Given the description of an element on the screen output the (x, y) to click on. 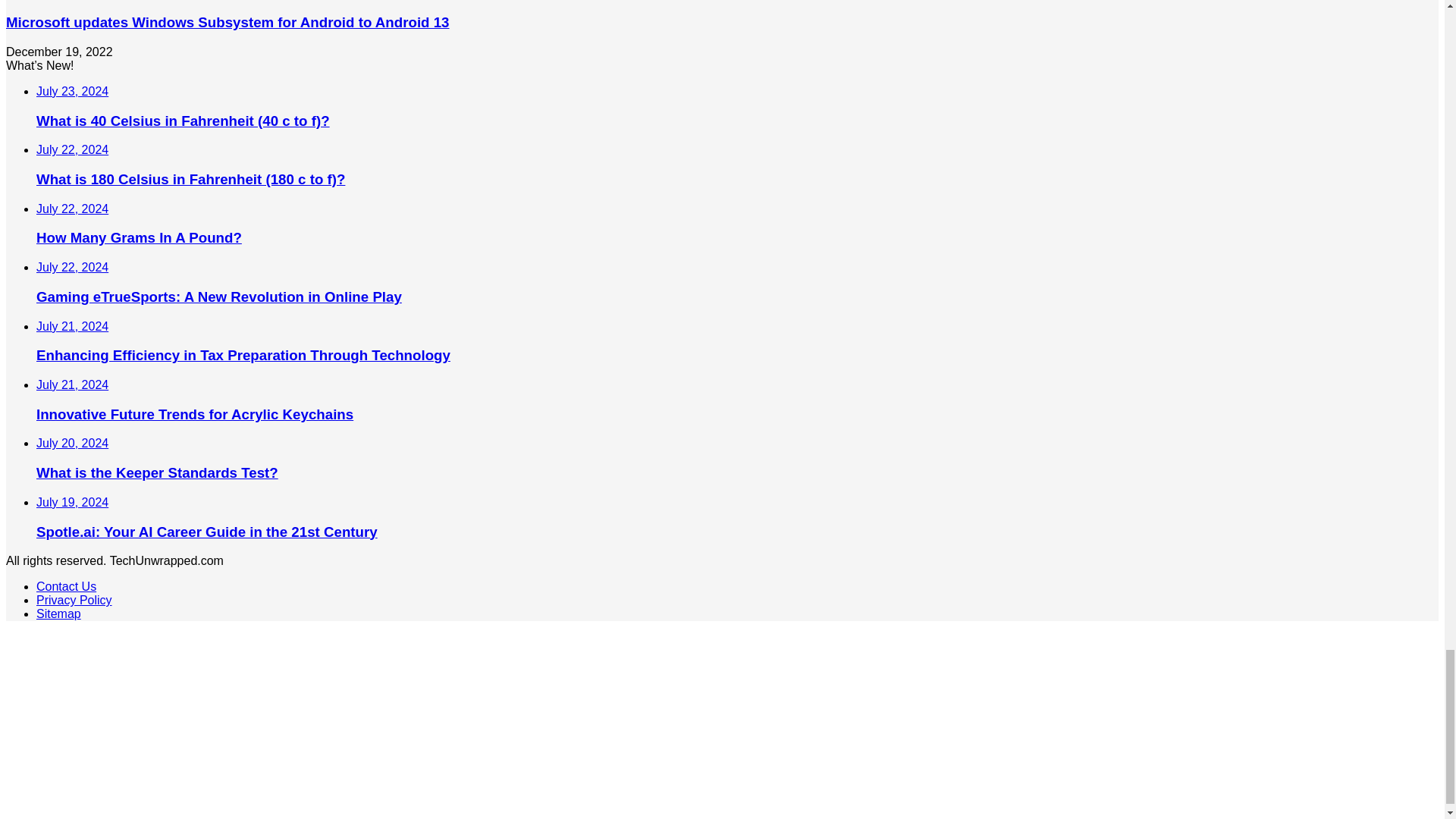
Contact Us (66, 585)
Privacy Policy (74, 599)
Sitemap (58, 613)
